Given the description of an element on the screen output the (x, y) to click on. 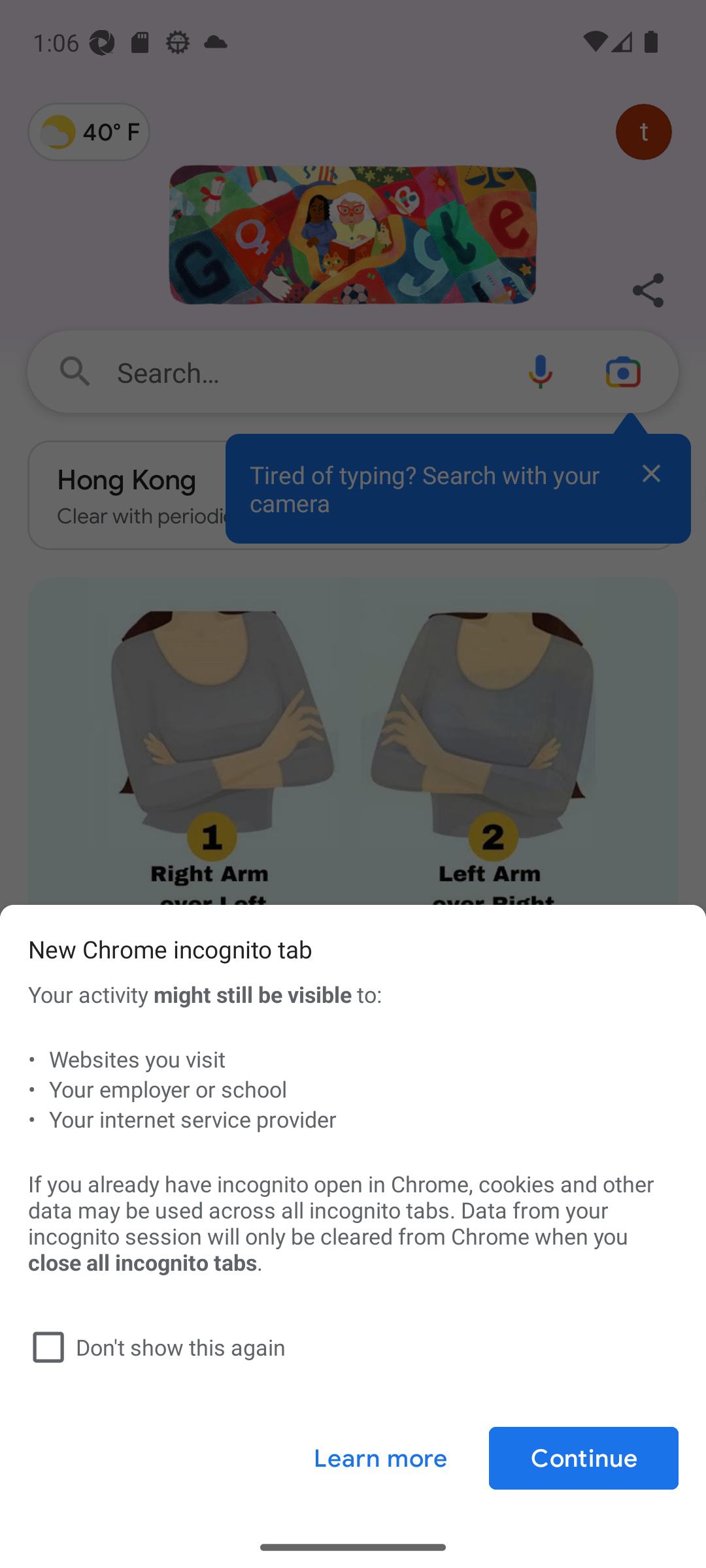
Don't show this again (349, 1346)
Learn more (380, 1458)
Continue (583, 1458)
